Given the description of an element on the screen output the (x, y) to click on. 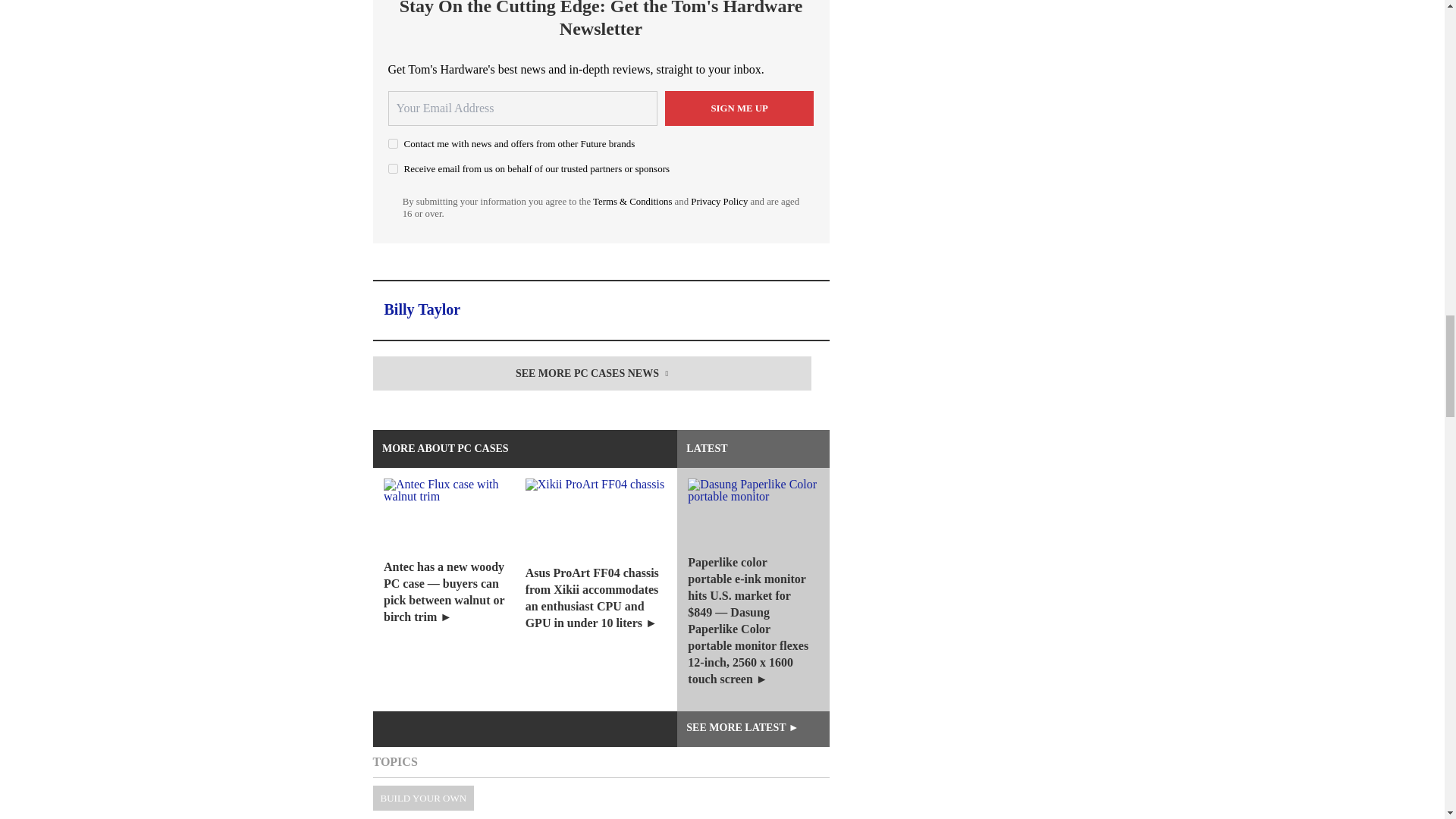
on (392, 143)
on (392, 168)
Sign me up (739, 108)
